Given the description of an element on the screen output the (x, y) to click on. 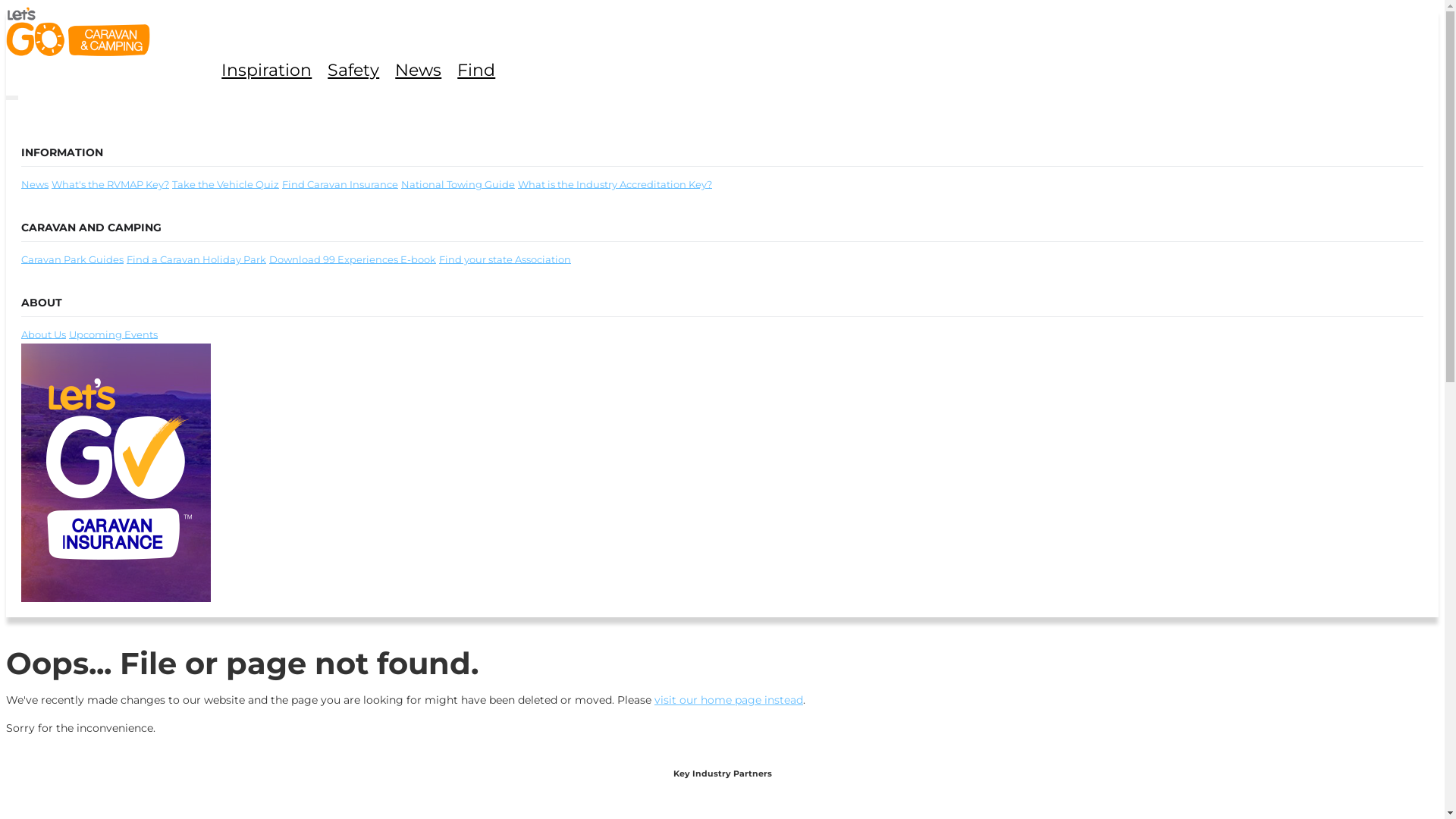
Find Element type: text (481, 69)
National Towing Guide Element type: text (457, 183)
What's the RVMAP Key? Element type: text (110, 183)
Search Element type: text (721, 430)
News Element type: text (423, 69)
News Element type: text (34, 183)
Download 99 Experiences E-book Element type: text (352, 258)
Find a Caravan Holiday Park Element type: text (196, 258)
Upcoming Events Element type: text (113, 334)
About Us Element type: text (43, 334)
What is the Industry Accreditation Key? Element type: text (614, 183)
Find Caravan Insurance Element type: text (340, 183)
Find your state Association Element type: text (505, 258)
Take the Vehicle Quiz Element type: text (225, 183)
visit our home page instead Element type: text (728, 699)
Inspiration Element type: text (272, 69)
Caravan Park Guides Element type: text (72, 258)
Safety Element type: text (358, 69)
